Given the description of an element on the screen output the (x, y) to click on. 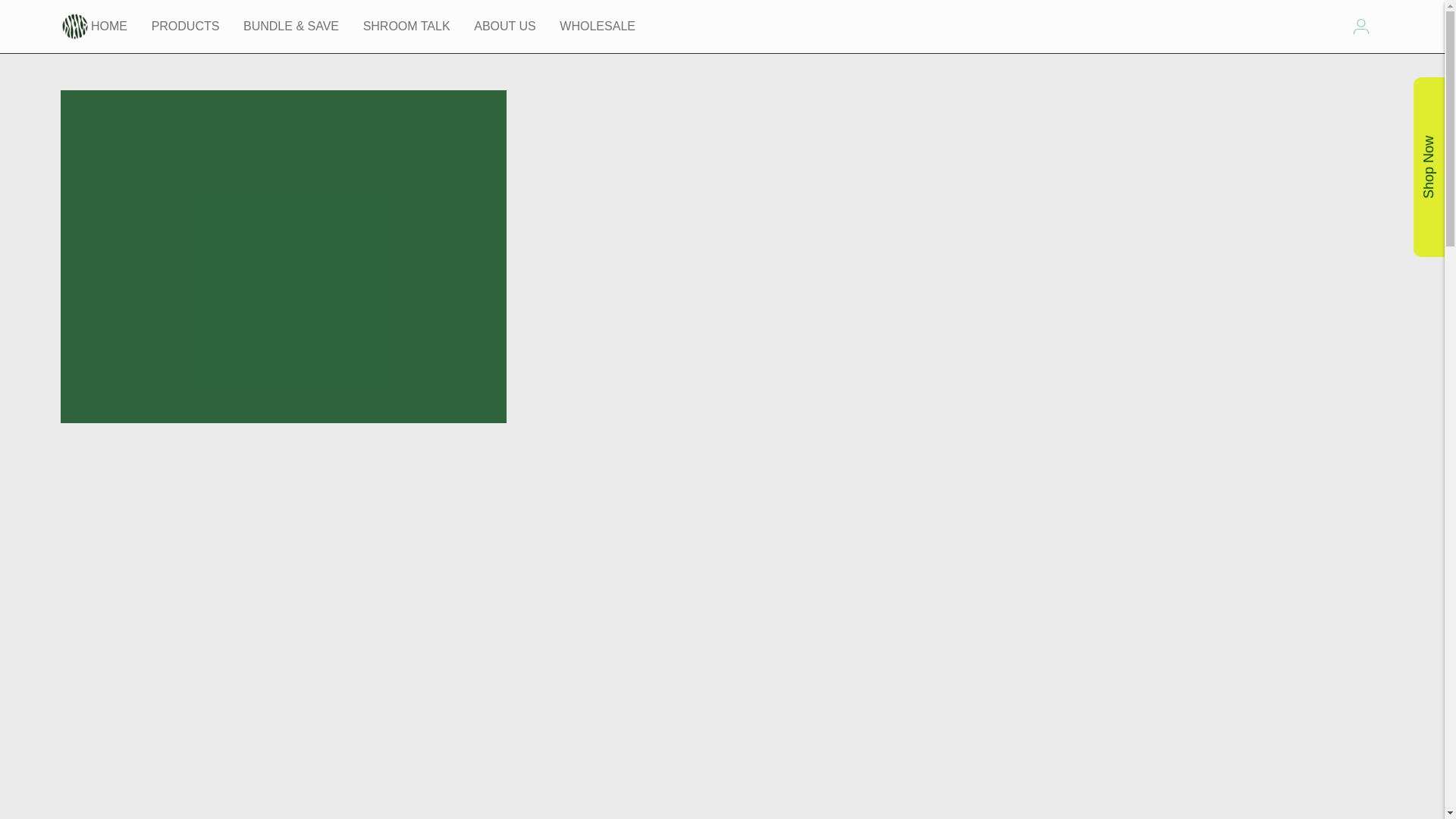
WHOLESALE (596, 26)
HOME (109, 26)
SHROOM TALK (405, 26)
ABOUT US (504, 26)
PRODUCTS (185, 26)
